Given the description of an element on the screen output the (x, y) to click on. 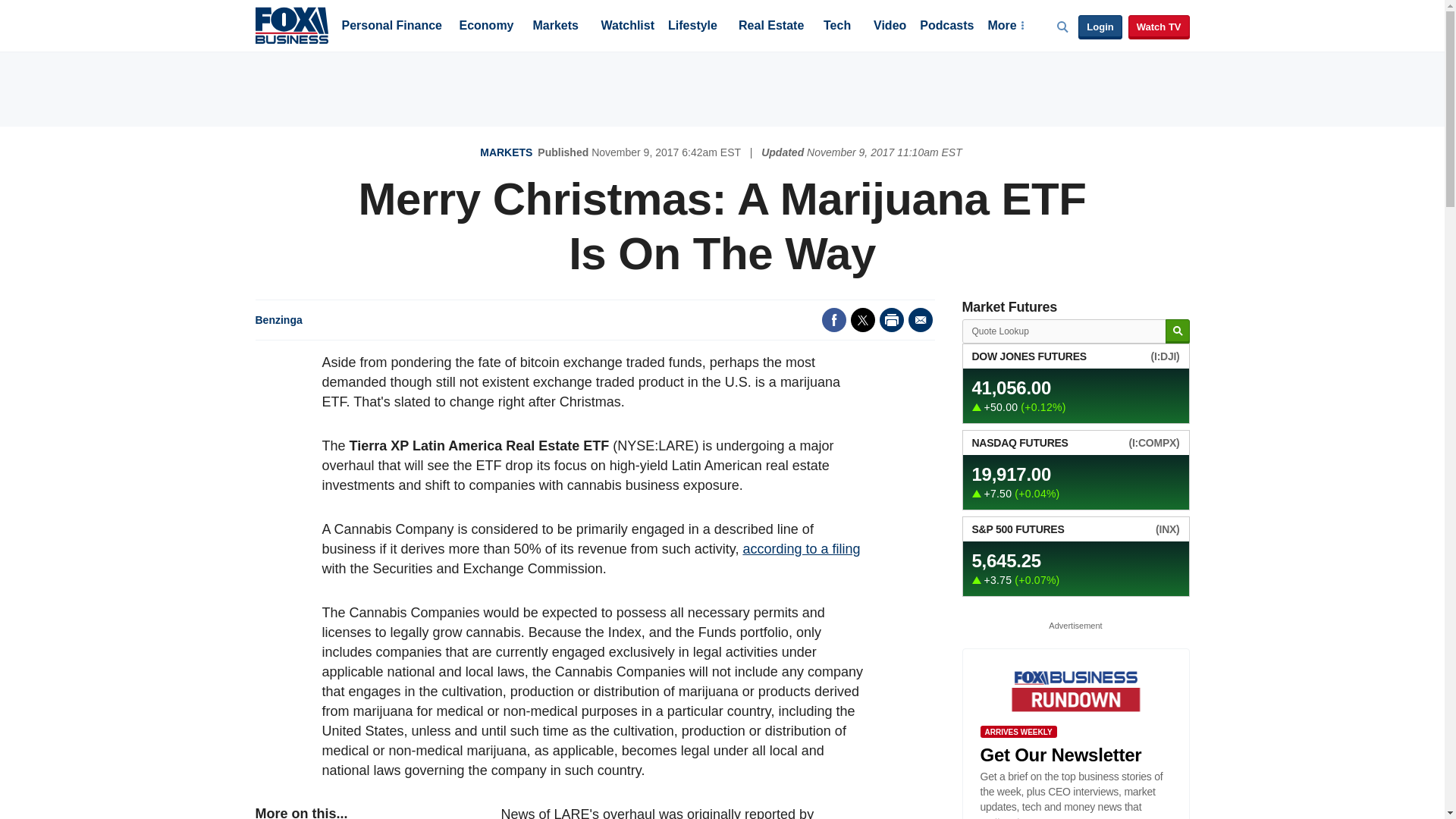
More (1005, 27)
Lifestyle (692, 27)
Fox Business (290, 24)
Search (1176, 331)
Personal Finance (391, 27)
Economy (486, 27)
Watch TV (1158, 27)
Login (1099, 27)
Video (889, 27)
Markets (555, 27)
